Given the description of an element on the screen output the (x, y) to click on. 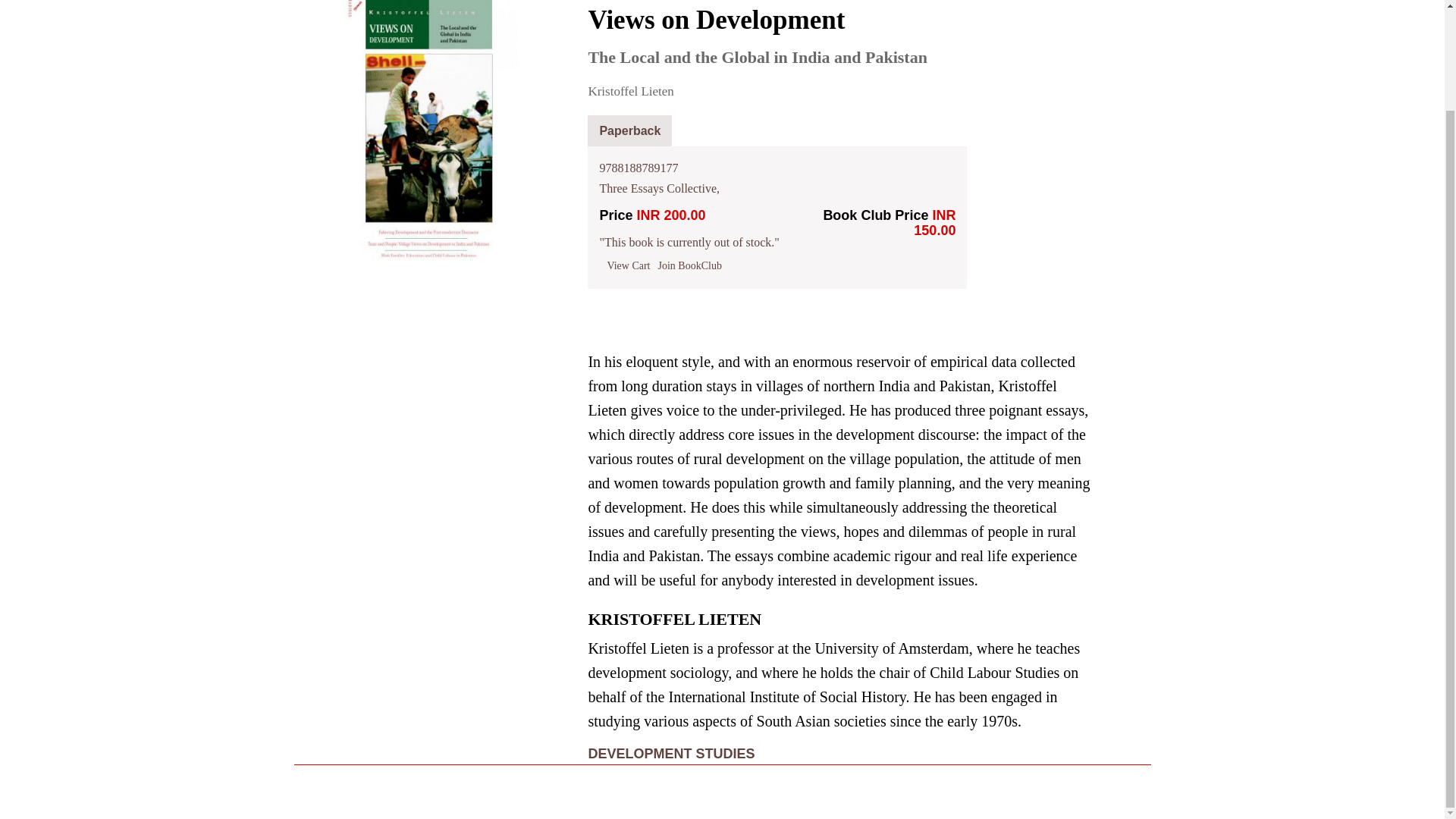
DEVELOPMENT STUDIES (671, 753)
Kristoffel Lieten (630, 91)
Join BookClub (690, 265)
Three Essays Collective, (658, 187)
View Cart (628, 265)
Paperback (629, 131)
KRISTOFFEL LIETEN (674, 622)
